Given the description of an element on the screen output the (x, y) to click on. 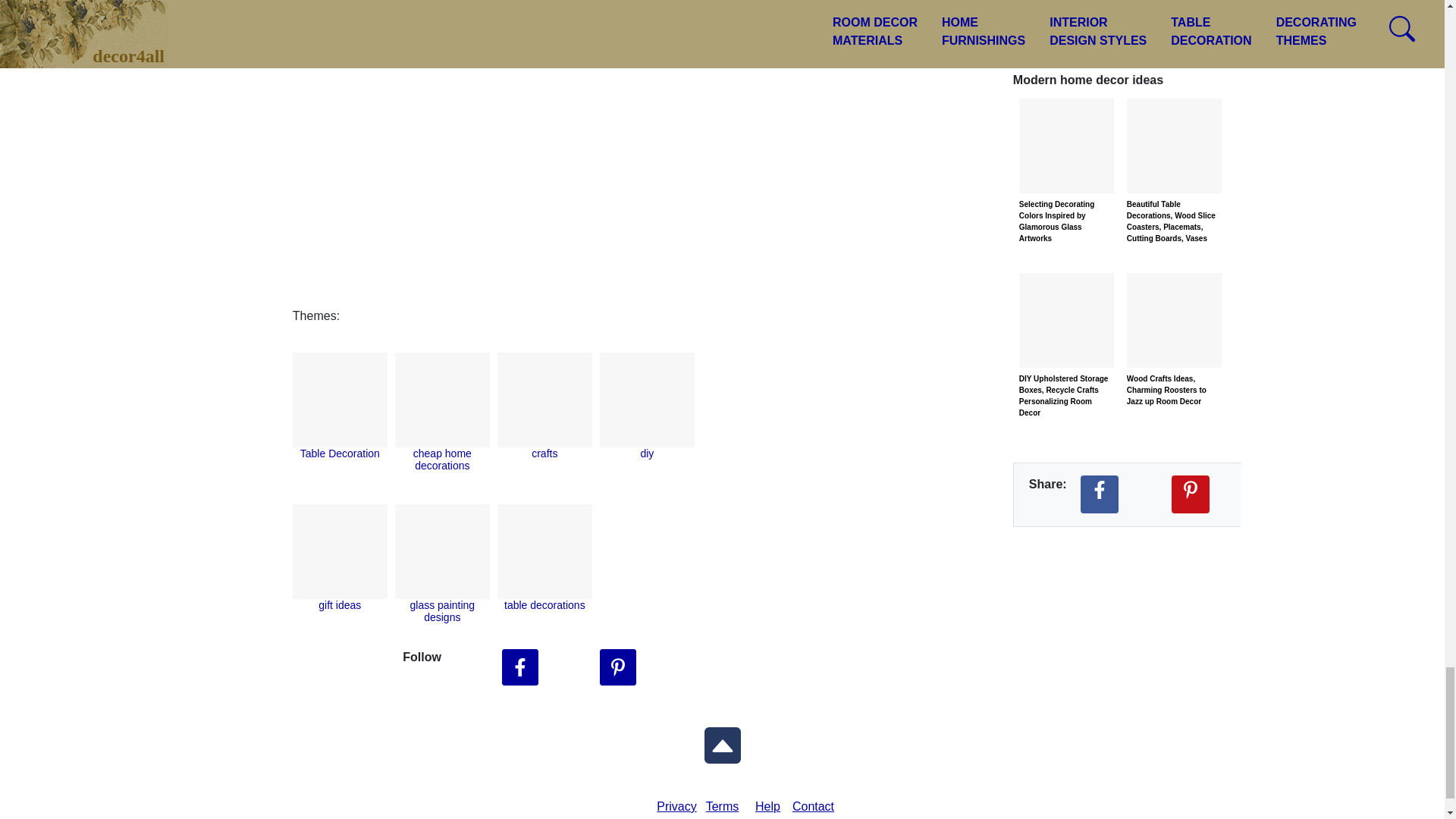
table decorations (544, 604)
gift ideas (339, 604)
glass painting designs (443, 610)
diy (646, 453)
crafts (544, 453)
cheap home decorations (442, 459)
Table Decoration (339, 453)
